Given the description of an element on the screen output the (x, y) to click on. 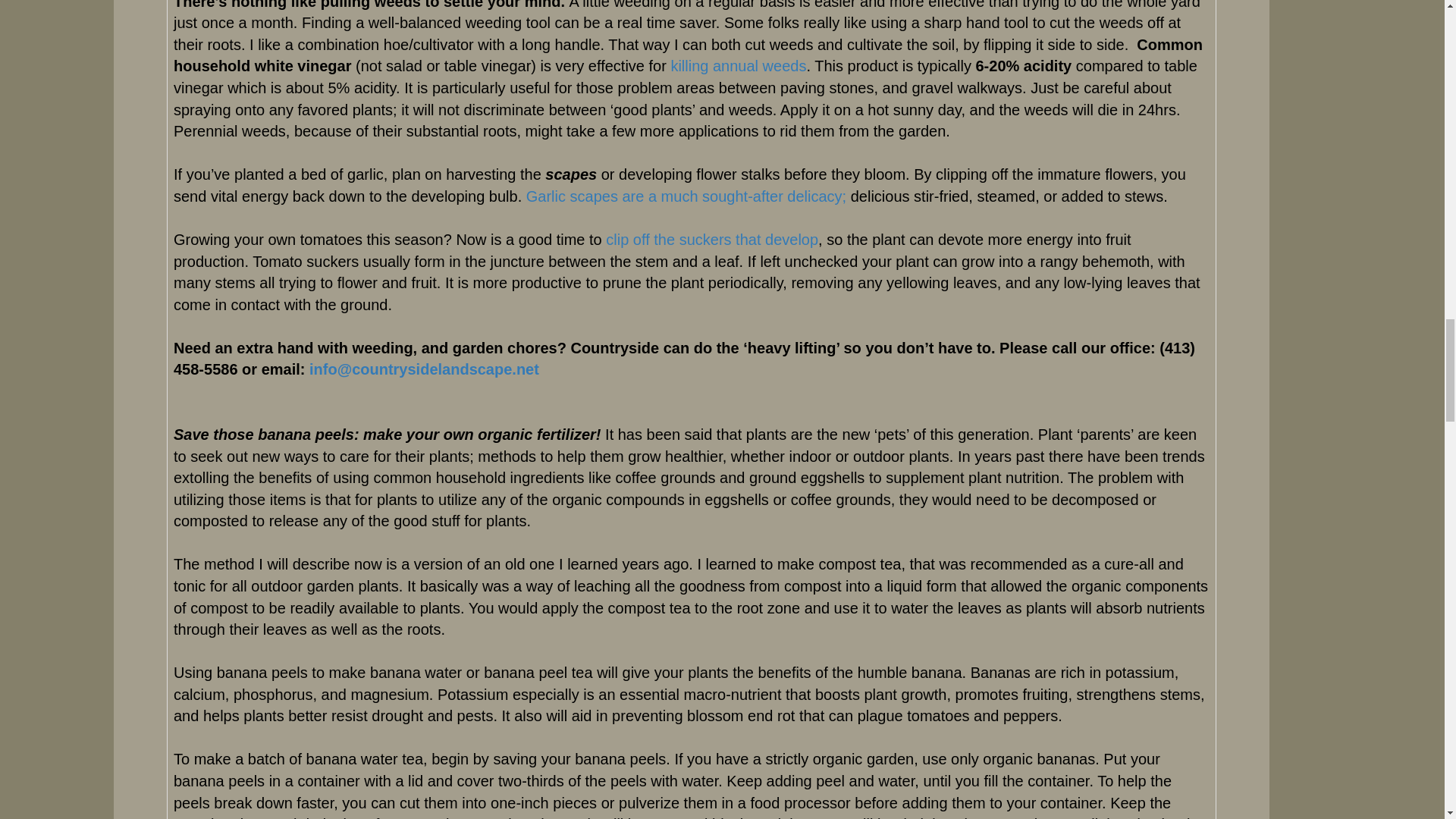
killing annual weeds (737, 65)
clip off the suckers that develop (711, 239)
Garlic scapes are a much sought-after delicacy;  (687, 196)
